Given the description of an element on the screen output the (x, y) to click on. 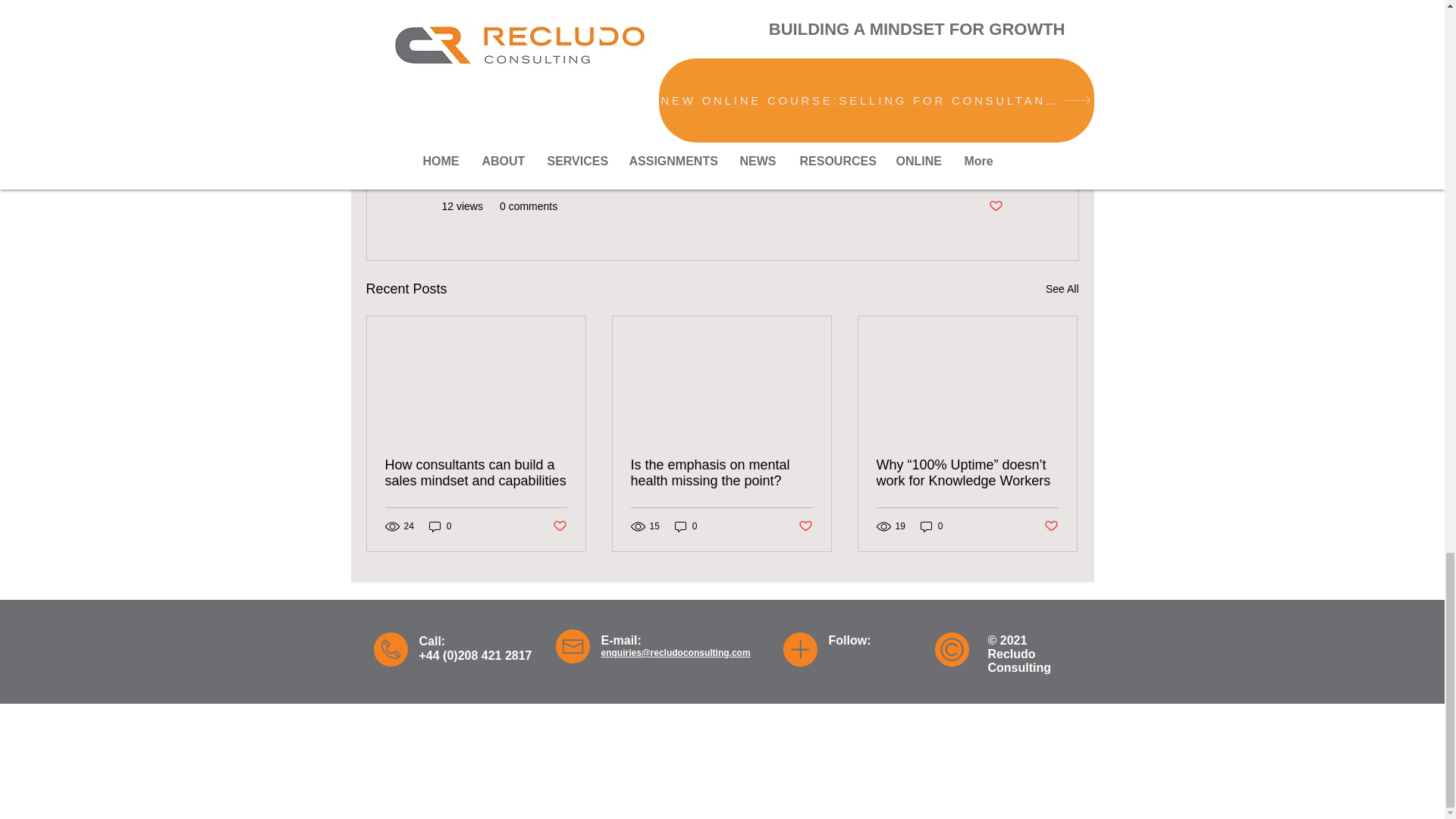
0 (685, 526)
How consultants can build a sales mindset and capabilities (476, 472)
0 (931, 526)
Post not marked as liked (804, 525)
See All (1061, 289)
0 (440, 526)
Post not marked as liked (1050, 525)
Is the emphasis on mental health missing the point? (721, 472)
Head Start (590, 89)
Post not marked as liked (558, 525)
Post not marked as liked (995, 206)
